Given the description of an element on the screen output the (x, y) to click on. 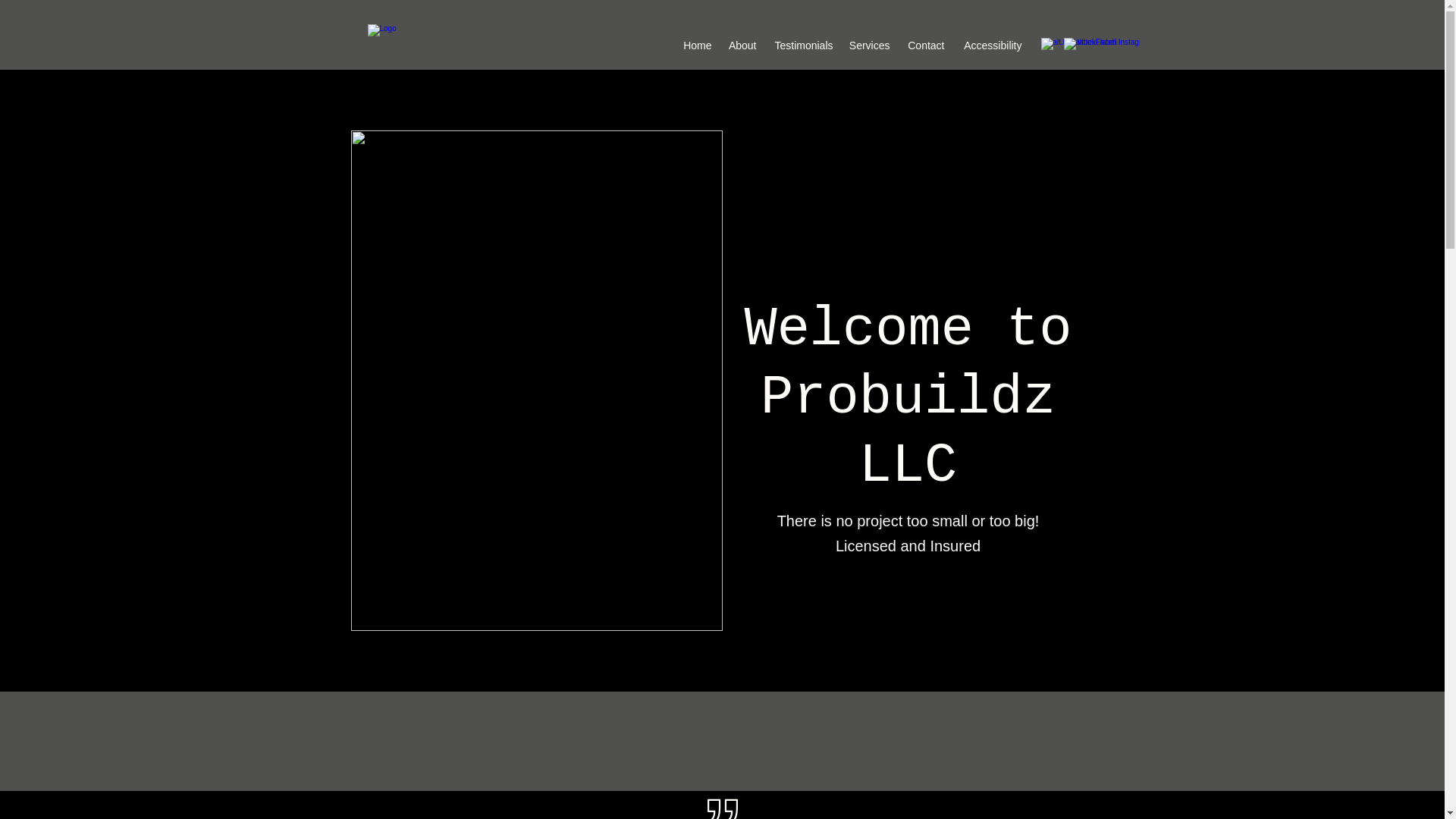
About (740, 45)
Contact (925, 45)
Home (697, 45)
Services (868, 45)
Accessibility (990, 45)
Testimonials (802, 45)
